Given the description of an element on the screen output the (x, y) to click on. 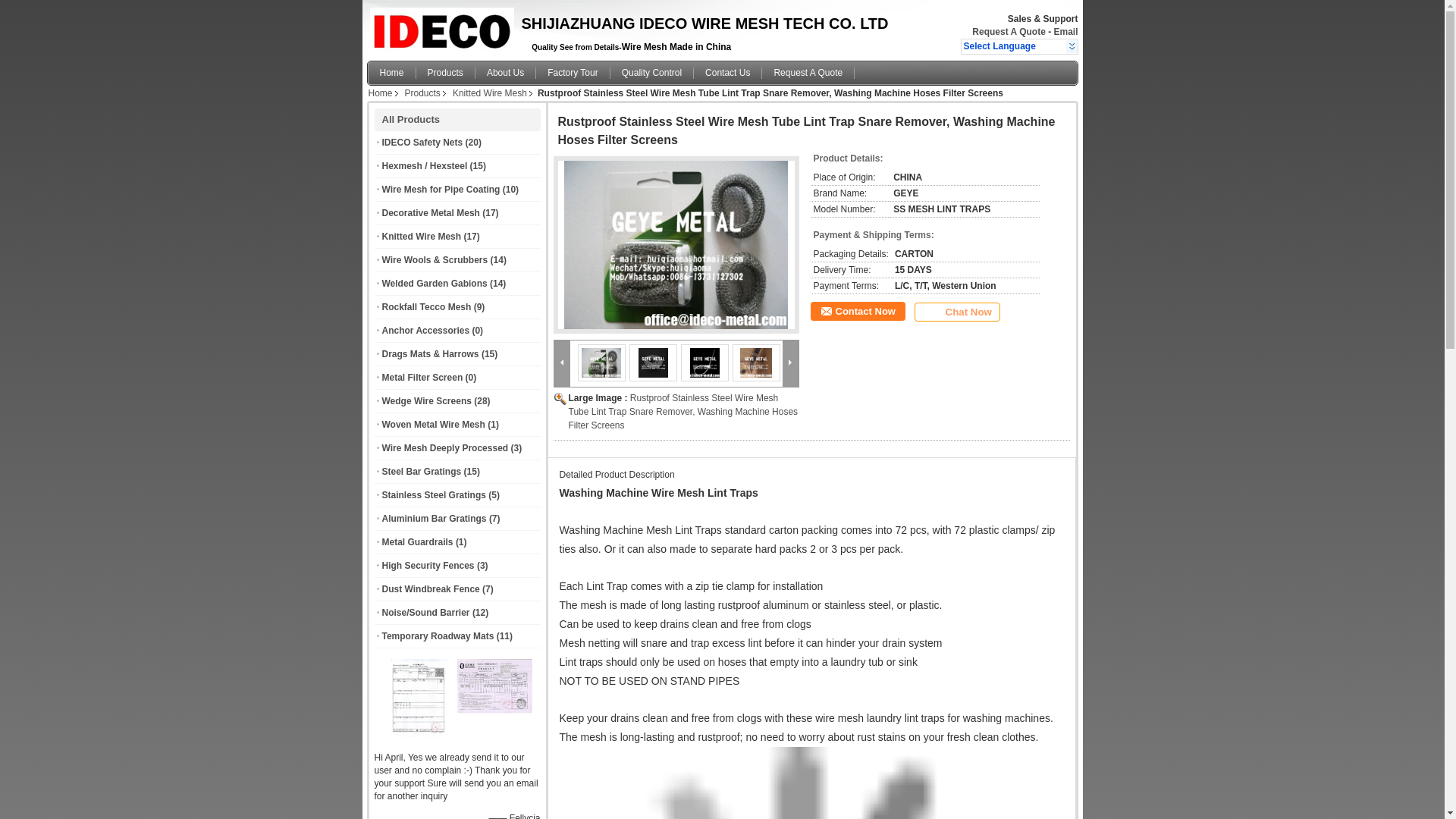
Wire Mesh for Pipe Coating (440, 189)
Steel Bar Gratings (421, 471)
Email (1064, 31)
Home (380, 92)
Metal Filter Screen (422, 377)
Welded Garden Gabions (434, 283)
High Security Fences (427, 565)
Dust Windbreak Fence (430, 588)
Request A Quote (1008, 31)
China Knitted Wire Mesh  on sales (421, 235)
